Given the description of an element on the screen output the (x, y) to click on. 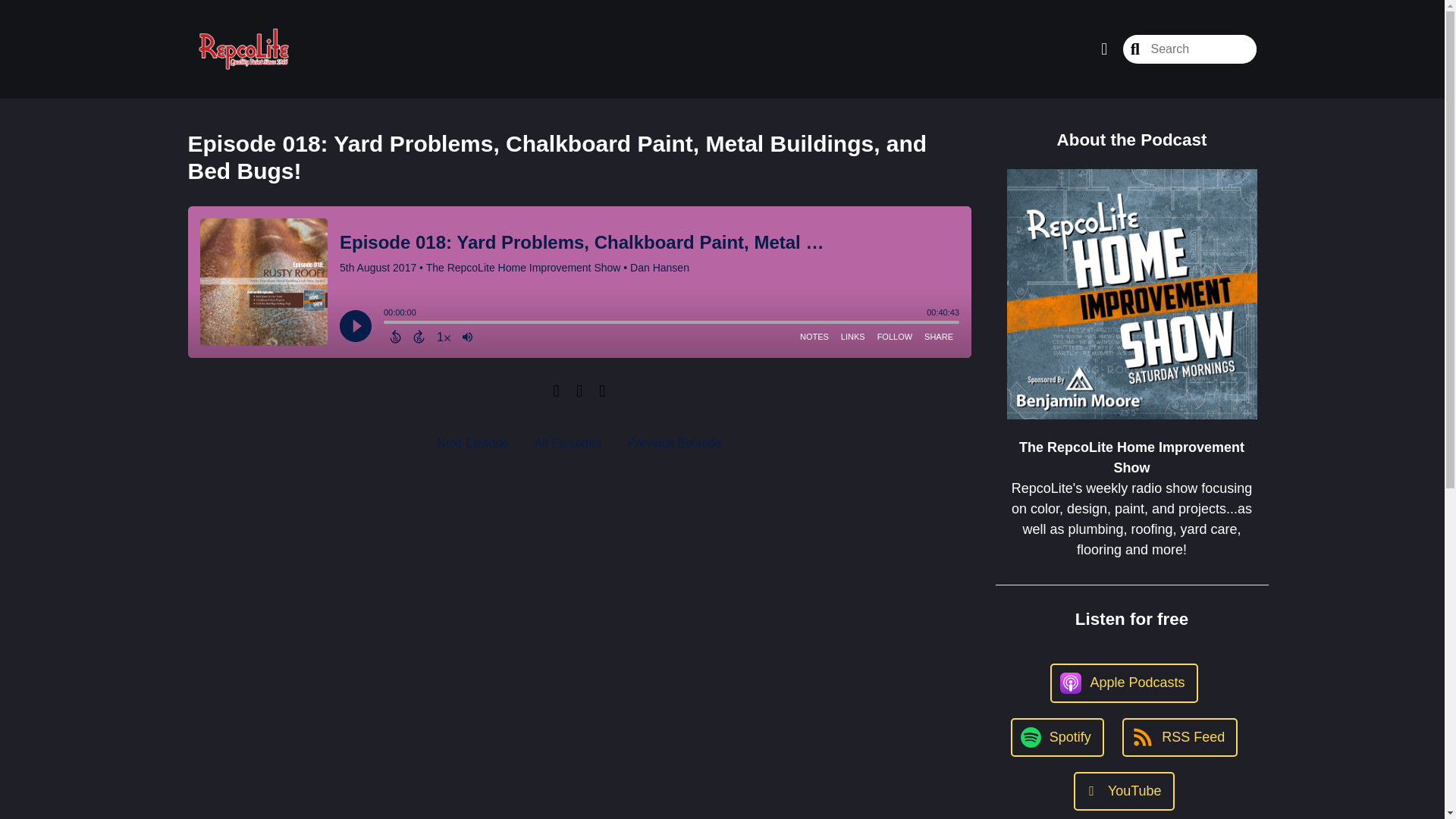
Spotify (1056, 737)
Next Episode (472, 442)
YouTube (1123, 791)
RSS Feed (1179, 737)
Apple Podcasts (1122, 682)
Previous Episode (674, 442)
All Episodes (567, 442)
